Given the description of an element on the screen output the (x, y) to click on. 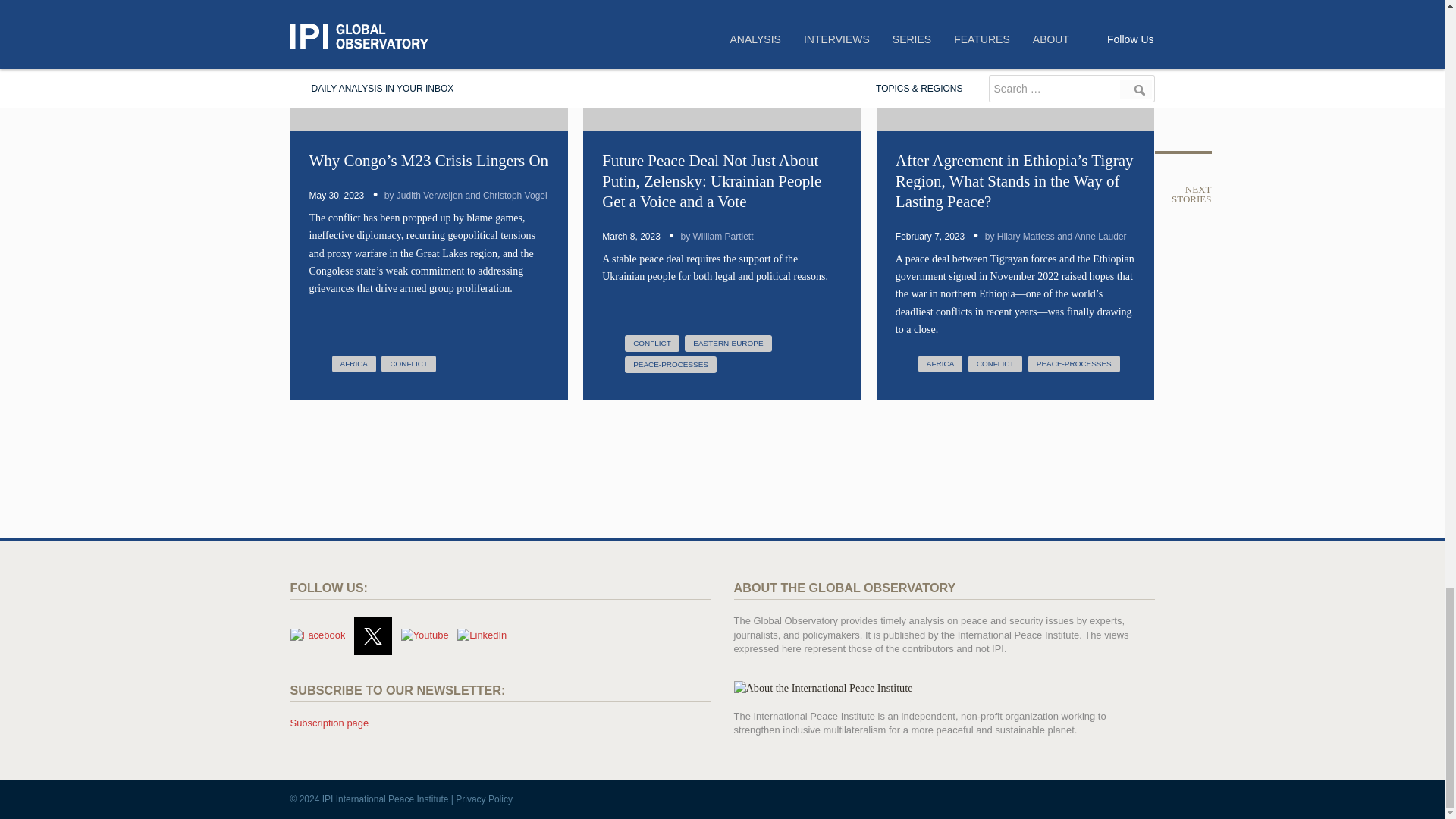
Twitter (372, 636)
Facebook (316, 635)
